Given the description of an element on the screen output the (x, y) to click on. 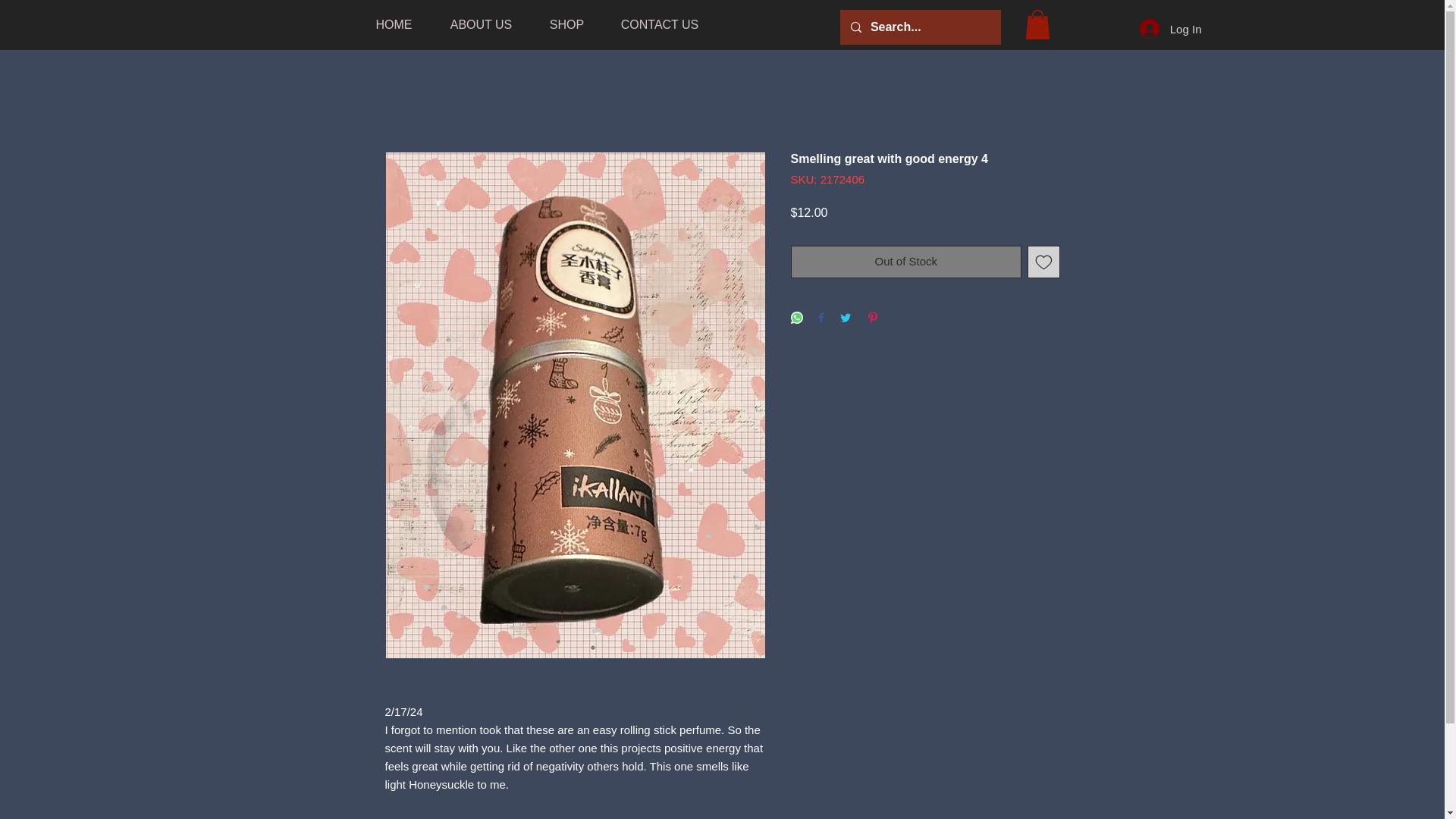
ABOUT US (480, 24)
Out of Stock (906, 261)
HOME (393, 24)
CONTACT US (659, 24)
Log In (1170, 28)
SHOP (566, 24)
